Given the description of an element on the screen output the (x, y) to click on. 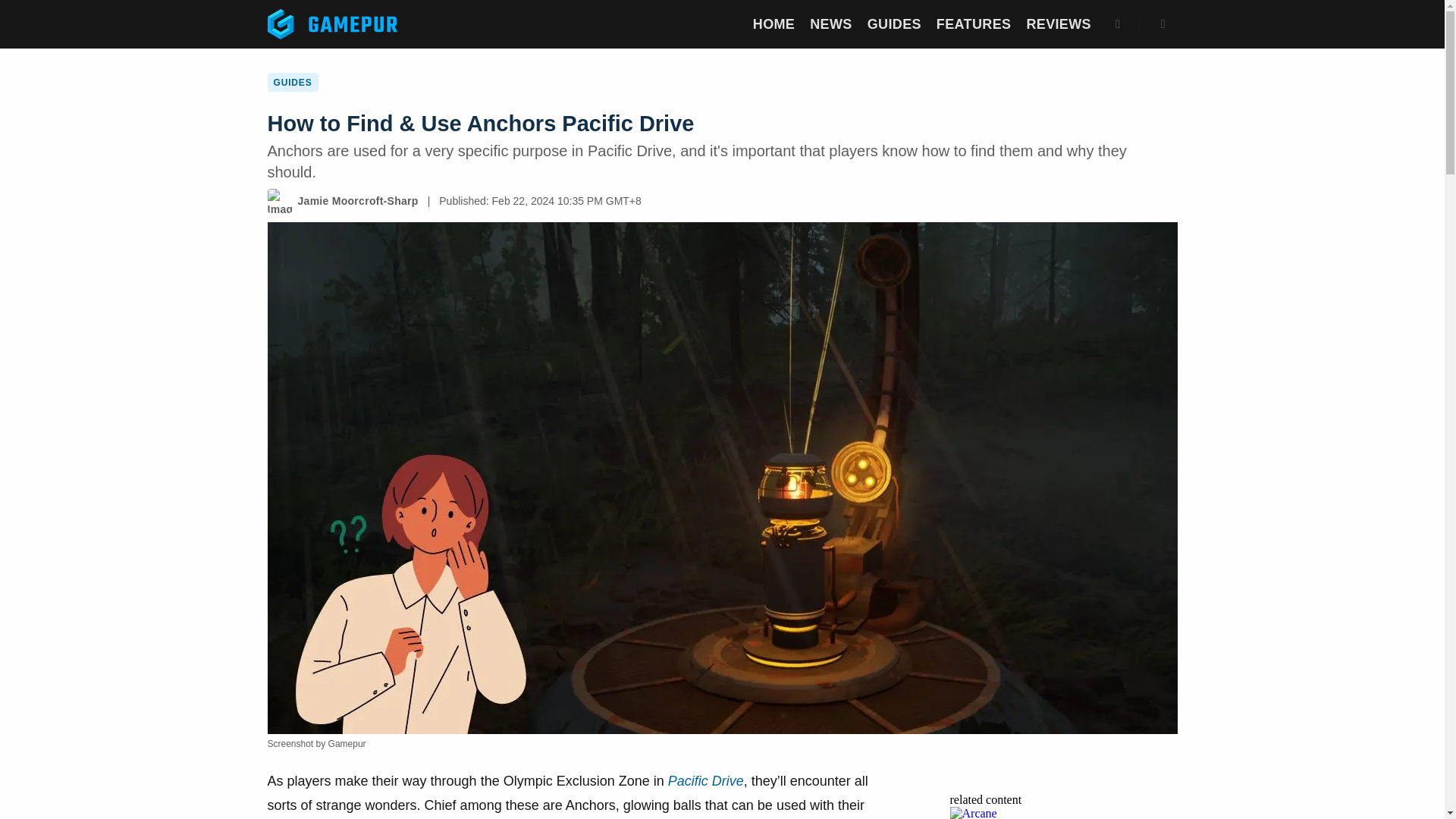
FEATURES (973, 23)
GUIDES (894, 23)
NEWS (830, 23)
REVIEWS (1058, 23)
HOME (773, 23)
